Given the description of an element on the screen output the (x, y) to click on. 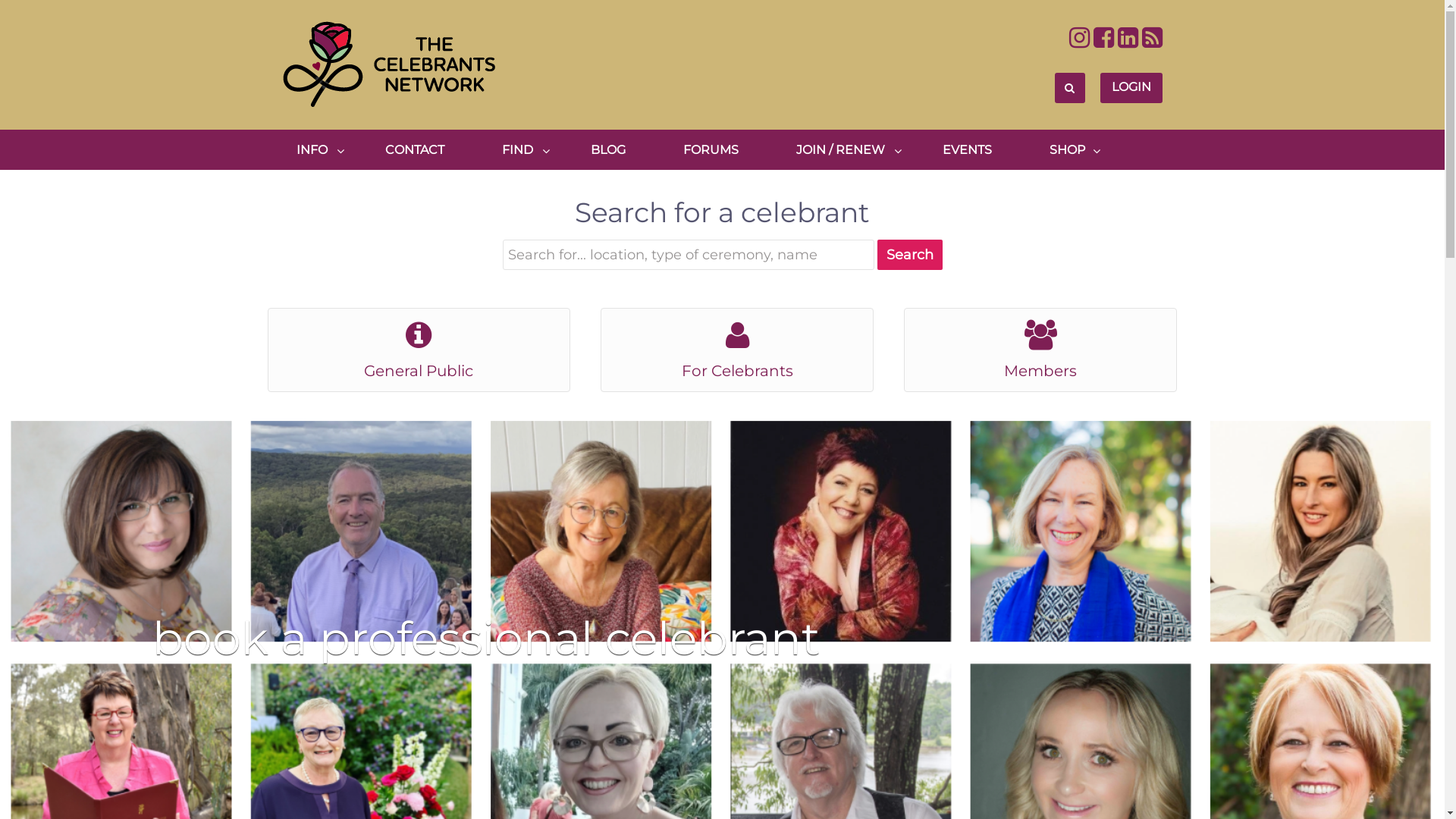
For Celebrants Element type: text (737, 370)
SHOP Element type: text (1066, 149)
INFO Element type: text (310, 149)
FIND Element type: text (517, 149)
EVENTS Element type: text (966, 149)
LOGIN Element type: text (1130, 87)
FORUMS Element type: text (709, 149)
Members Element type: text (1040, 370)
CONTACT Element type: text (414, 149)
JOIN / RENEW Element type: text (840, 149)
BLOG Element type: text (607, 149)
General Public Element type: text (418, 370)
Search Element type: text (908, 254)
